Given the description of an element on the screen output the (x, y) to click on. 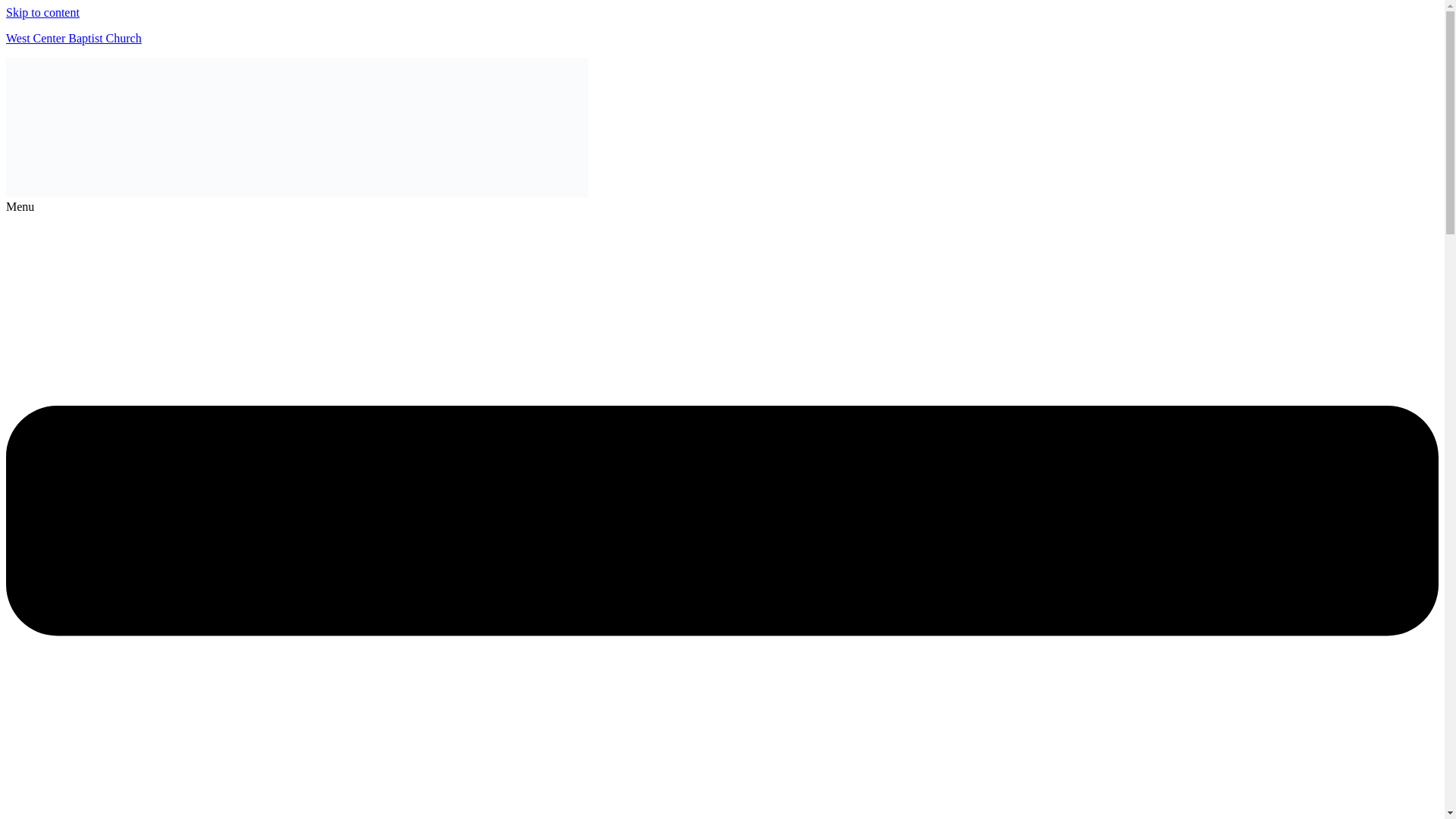
Skip to content (42, 11)
Skip to content (42, 11)
West Center Baptist Church (73, 38)
West Center Baptist Church (73, 38)
